Given the description of an element on the screen output the (x, y) to click on. 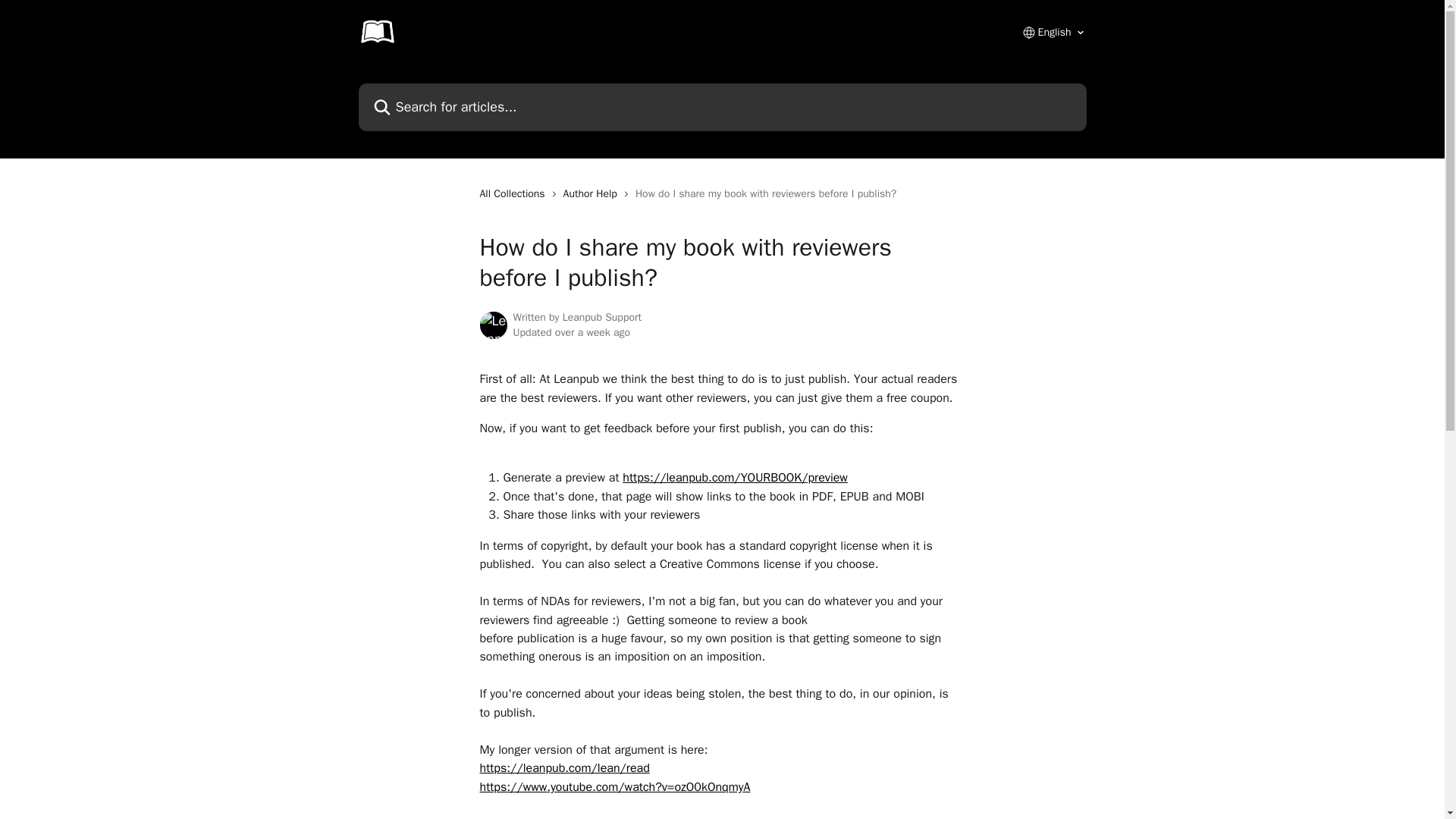
Author Help (593, 193)
All Collections (514, 193)
